Given the description of an element on the screen output the (x, y) to click on. 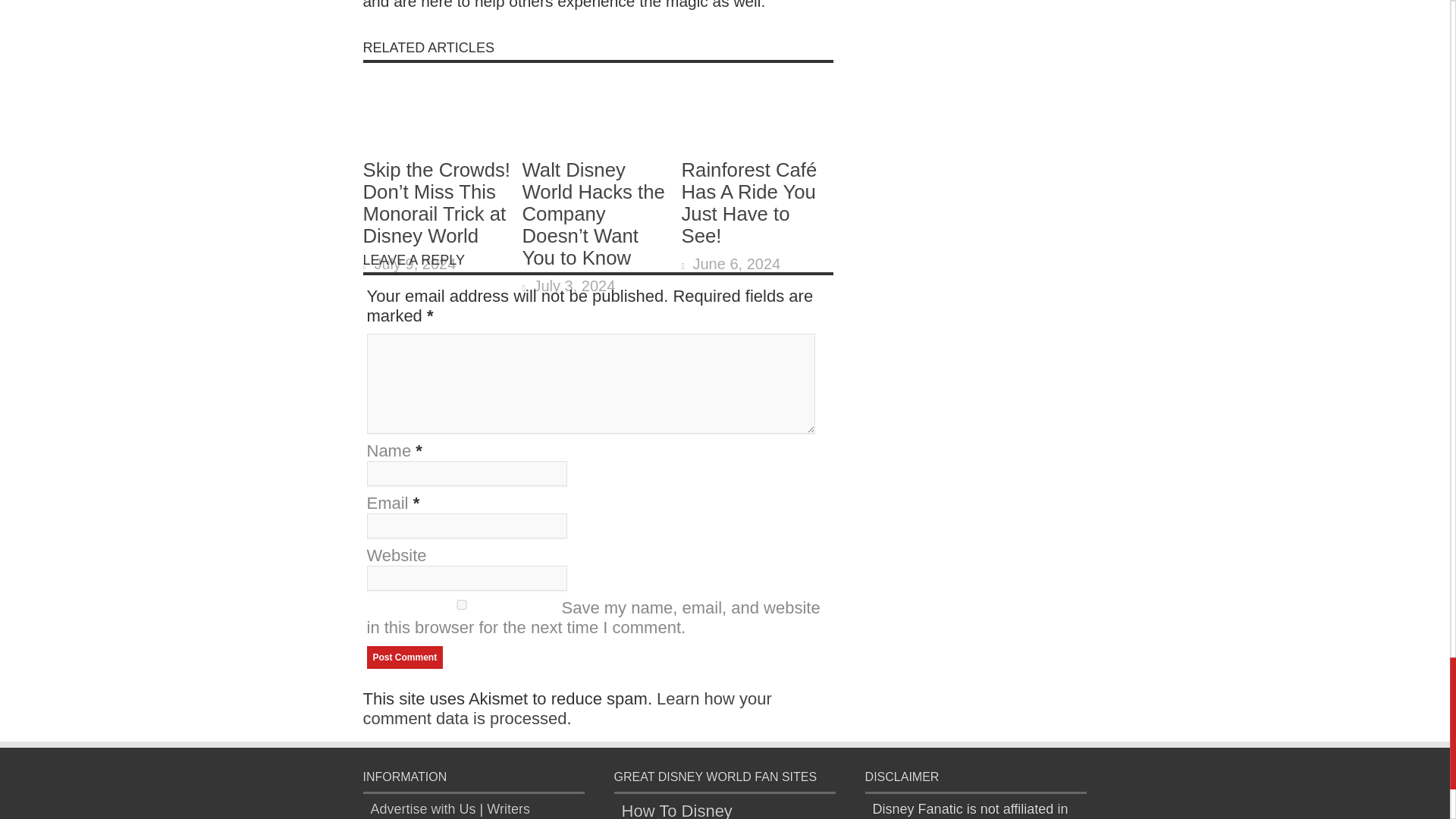
Post Comment (405, 657)
Post Comment (405, 657)
yes (461, 604)
Learn how your comment data is processed (566, 708)
